Given the description of an element on the screen output the (x, y) to click on. 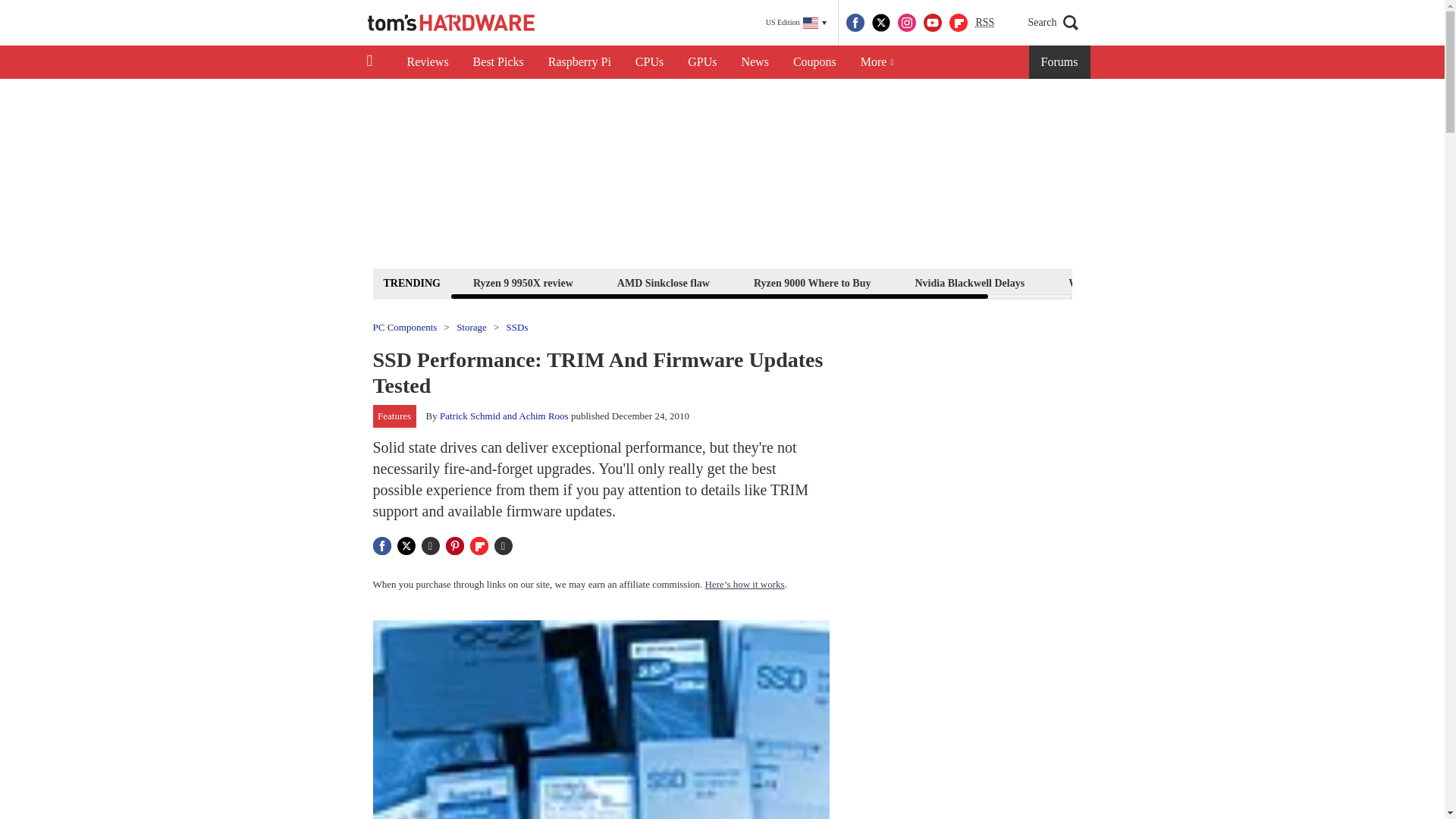
GPUs (702, 61)
Coupons (814, 61)
RSS (984, 22)
Best Picks (498, 61)
Raspberry Pi (579, 61)
Really Simple Syndication (984, 21)
Reviews (427, 61)
News (754, 61)
Ryzen 9 9950X review (522, 282)
CPUs (649, 61)
